Given the description of an element on the screen output the (x, y) to click on. 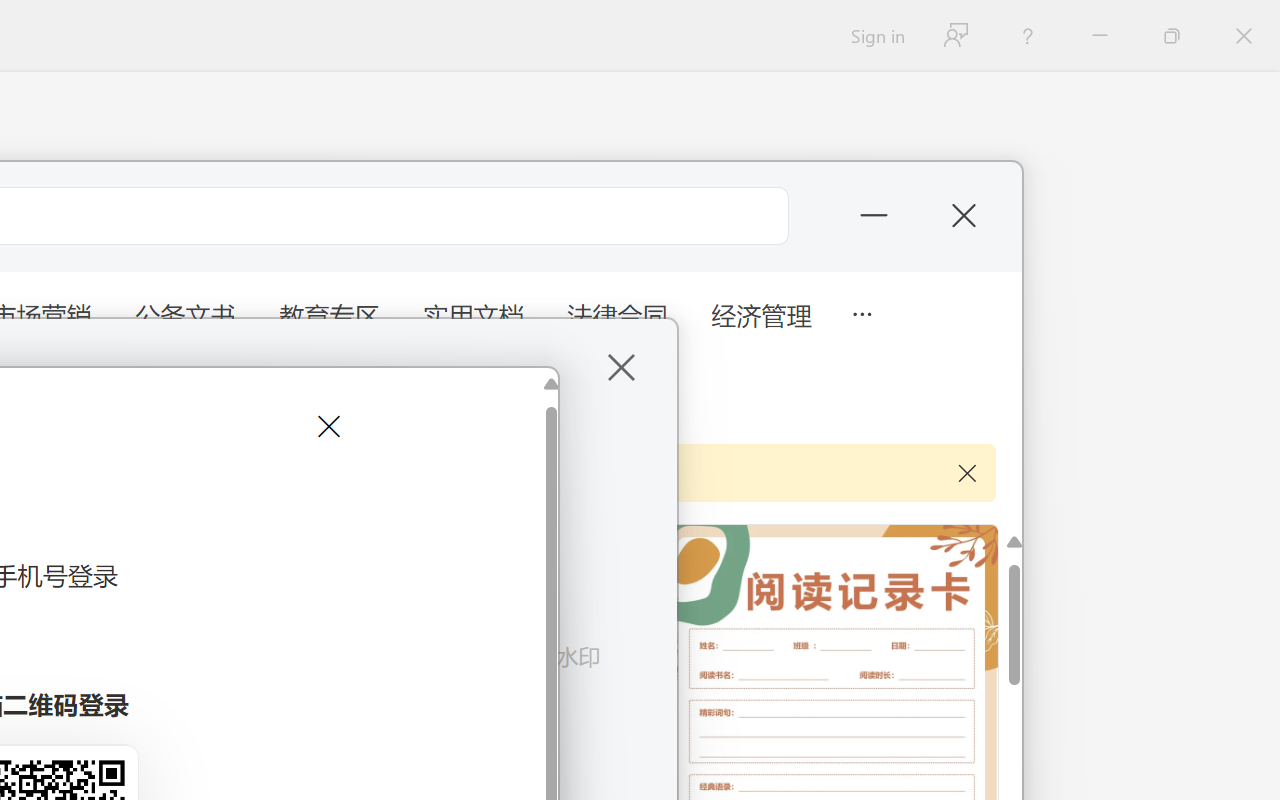
Cancel (326, 425)
5 more tabs (861, 312)
Sign in (875, 35)
